Given the description of an element on the screen output the (x, y) to click on. 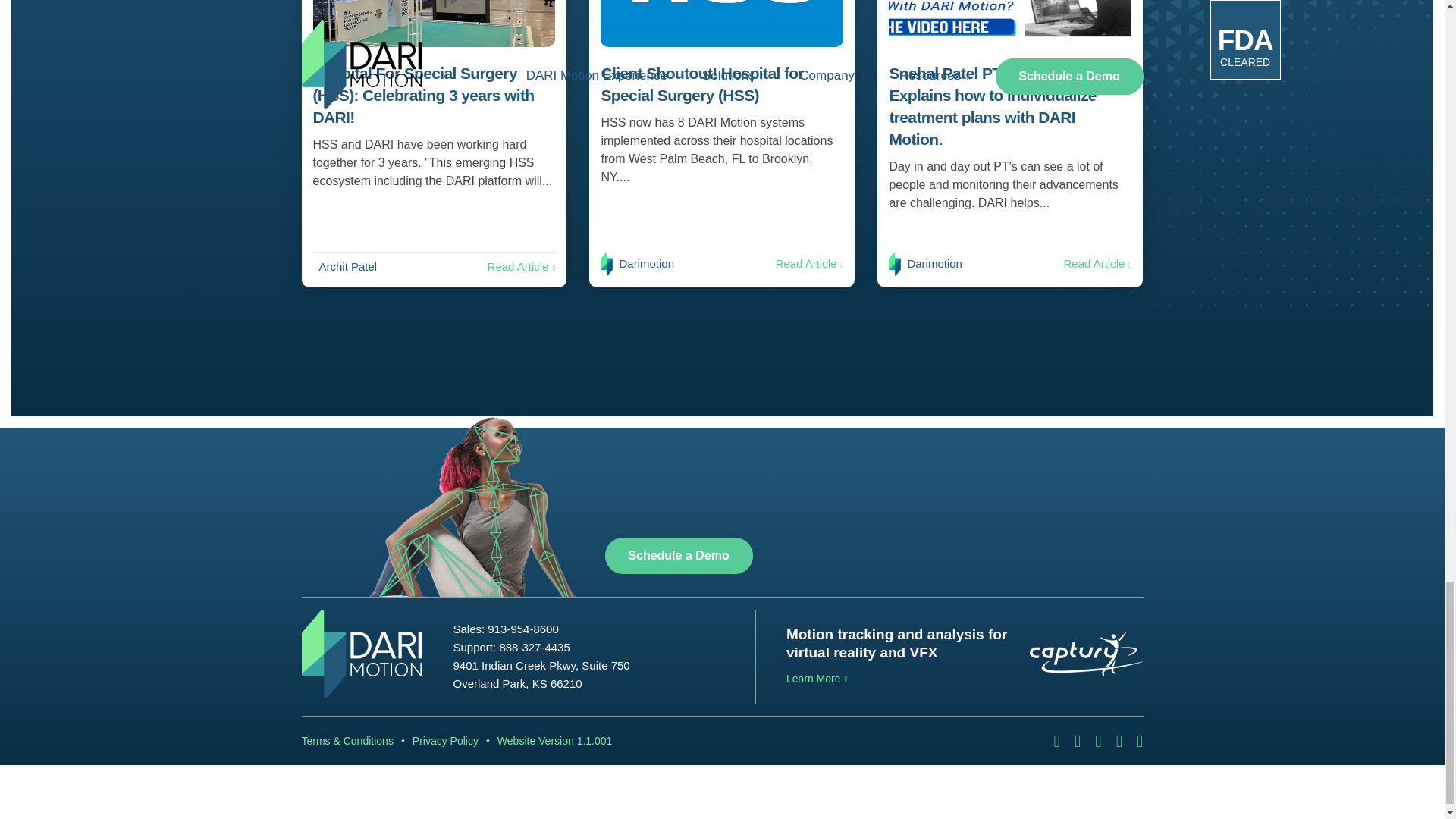
Read Article (1096, 263)
Read Article (808, 263)
Read Article (521, 266)
913-954-8600 (522, 628)
Learn More (816, 678)
Privacy Policy (445, 741)
Schedule a Demo (678, 555)
888-327-4435 (534, 646)
